Given the description of an element on the screen output the (x, y) to click on. 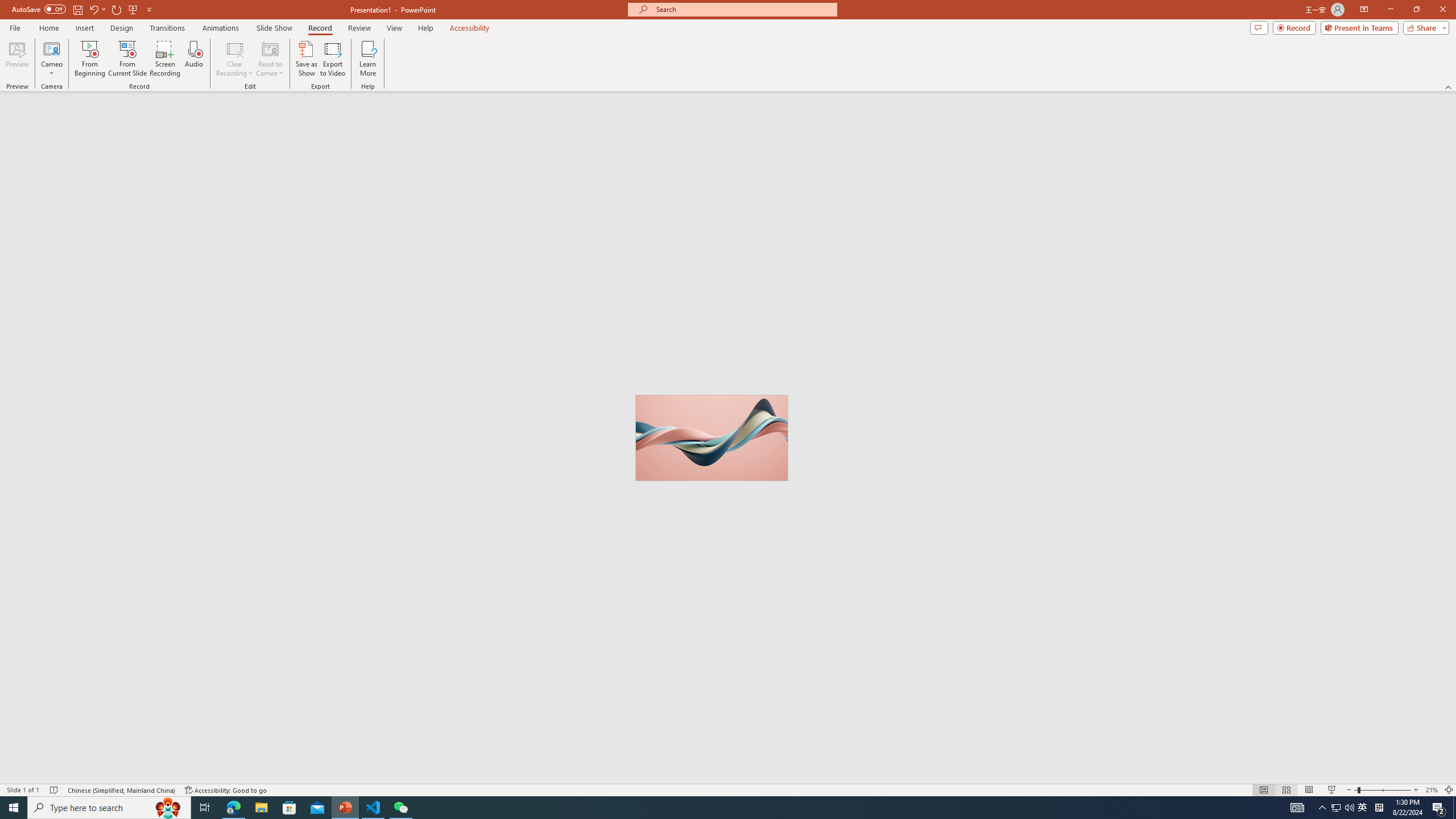
Screen Recording (165, 58)
